Given the description of an element on the screen output the (x, y) to click on. 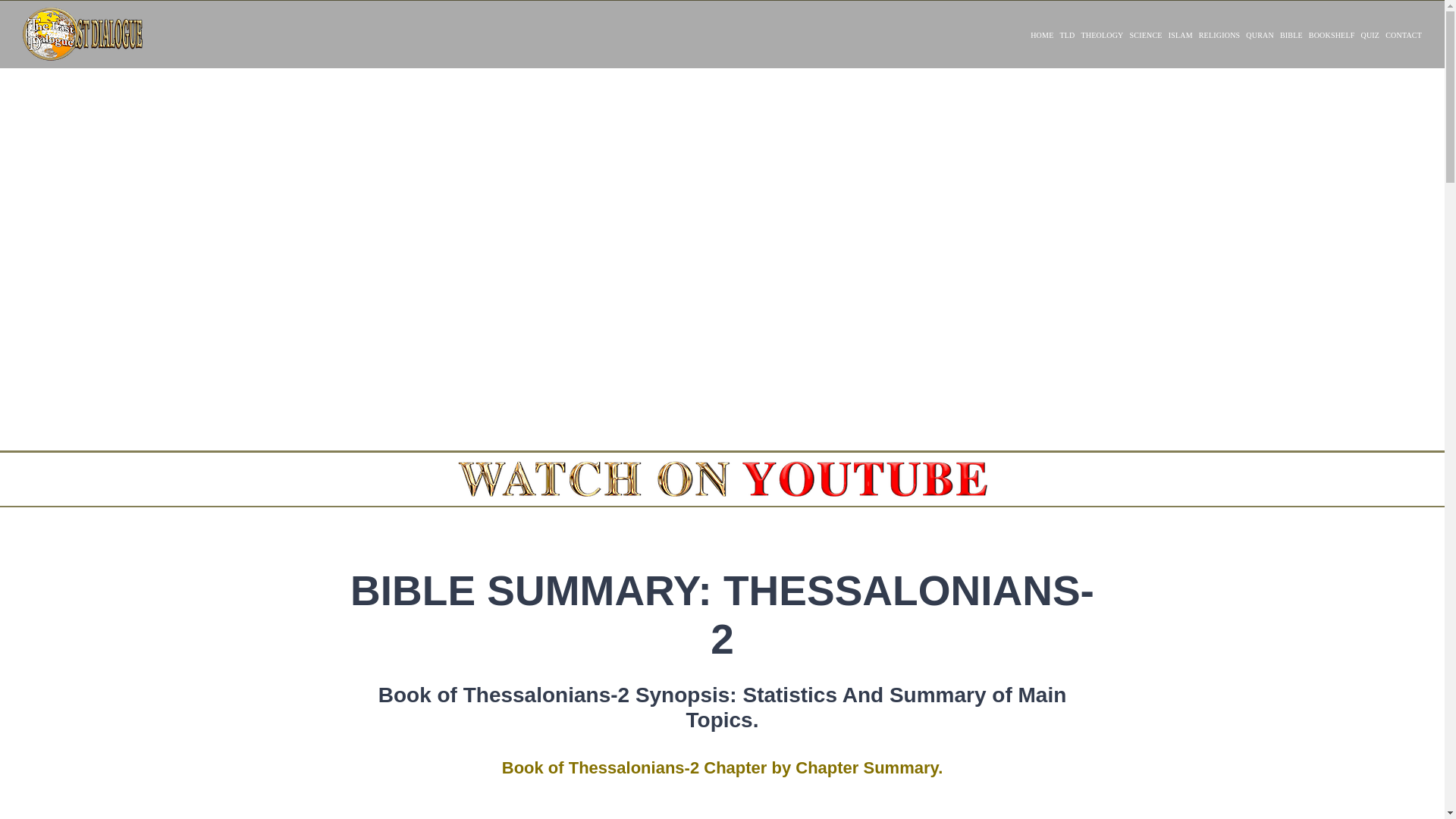
In the name of God (722, 811)
